Given the description of an element on the screen output the (x, y) to click on. 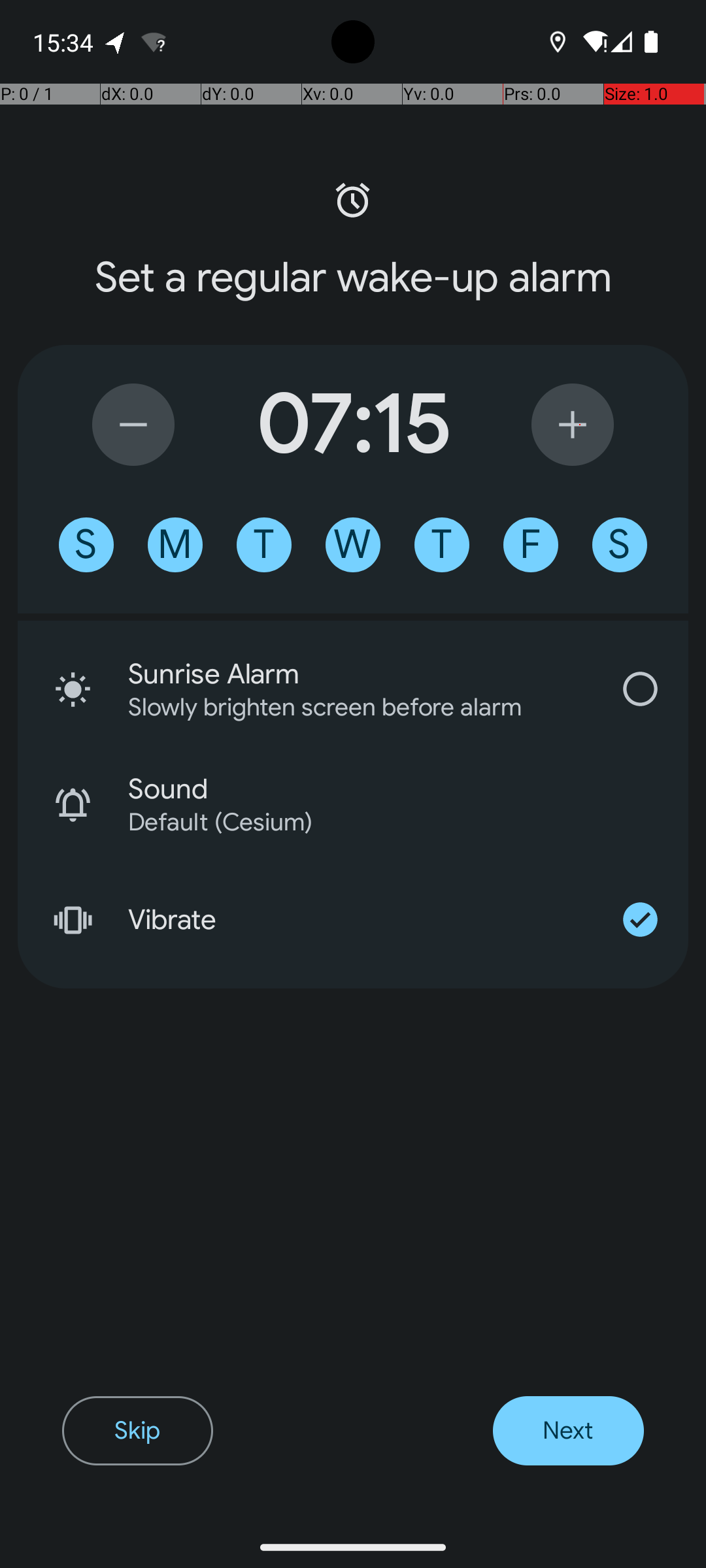
Set a regular wake-up alarm Element type: android.widget.TextView (352, 277)
Fifteen minutes earlier Element type: android.widget.ImageView (133, 424)
07:15 Element type: android.widget.TextView (353, 424)
Fifteen minutes later Element type: android.widget.ImageView (572, 424)
Sunrise Alarm Element type: android.widget.TextView (360, 673)
Slowly brighten screen before alarm Element type: android.widget.TextView (342, 706)
